Given the description of an element on the screen output the (x, y) to click on. 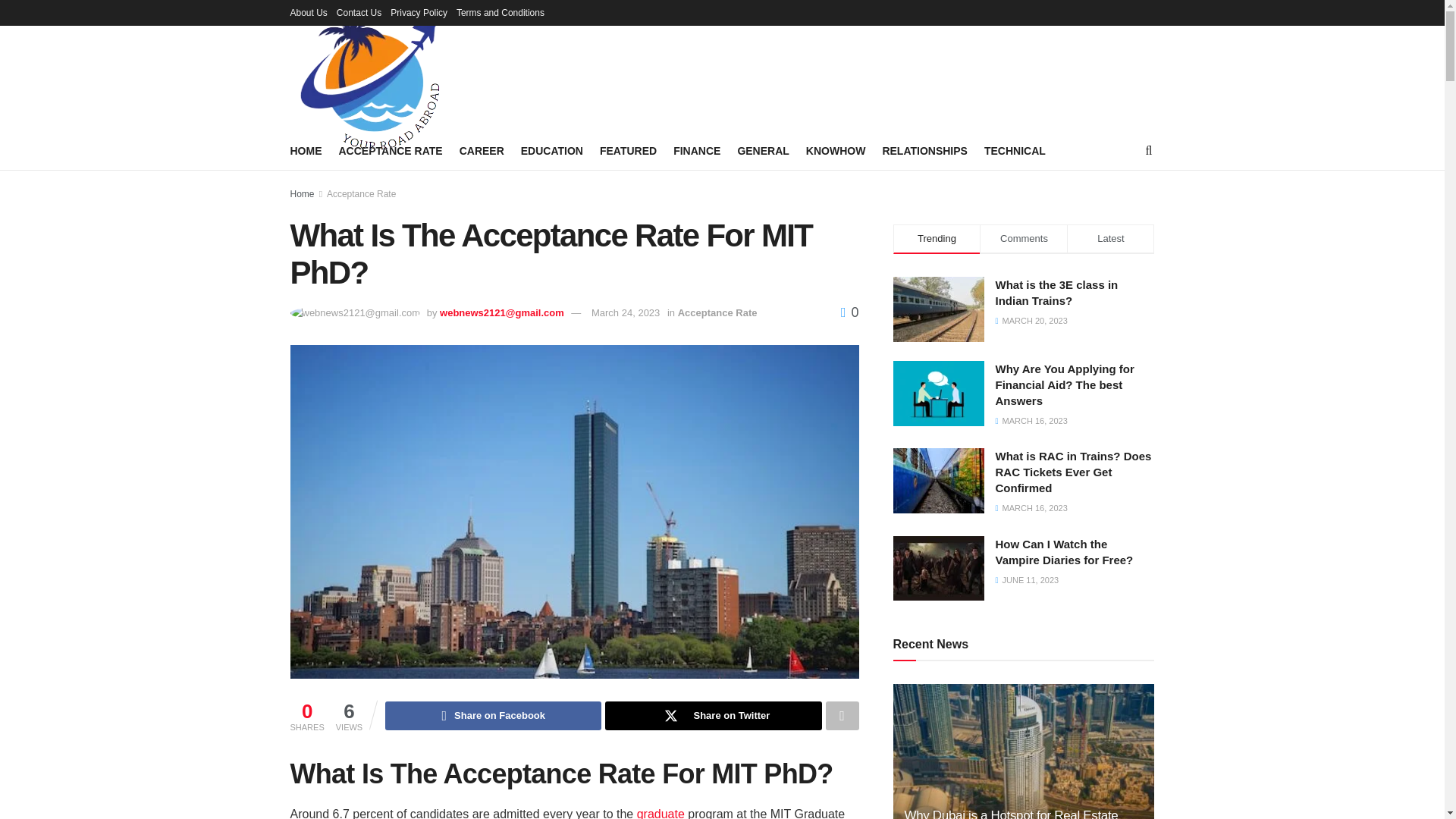
Acceptance Rate (717, 312)
FINANCE (696, 150)
0 (850, 312)
Terms and Conditions (500, 12)
Home (301, 194)
FEATURED (627, 150)
Privacy Policy (418, 12)
March 24, 2023 (625, 312)
RELATIONSHIPS (925, 150)
HOME (305, 150)
EDUCATION (552, 150)
ACCEPTANCE RATE (389, 150)
Contact Us (358, 12)
About Us (307, 12)
TECHNICAL (1014, 150)
